Given the description of an element on the screen output the (x, y) to click on. 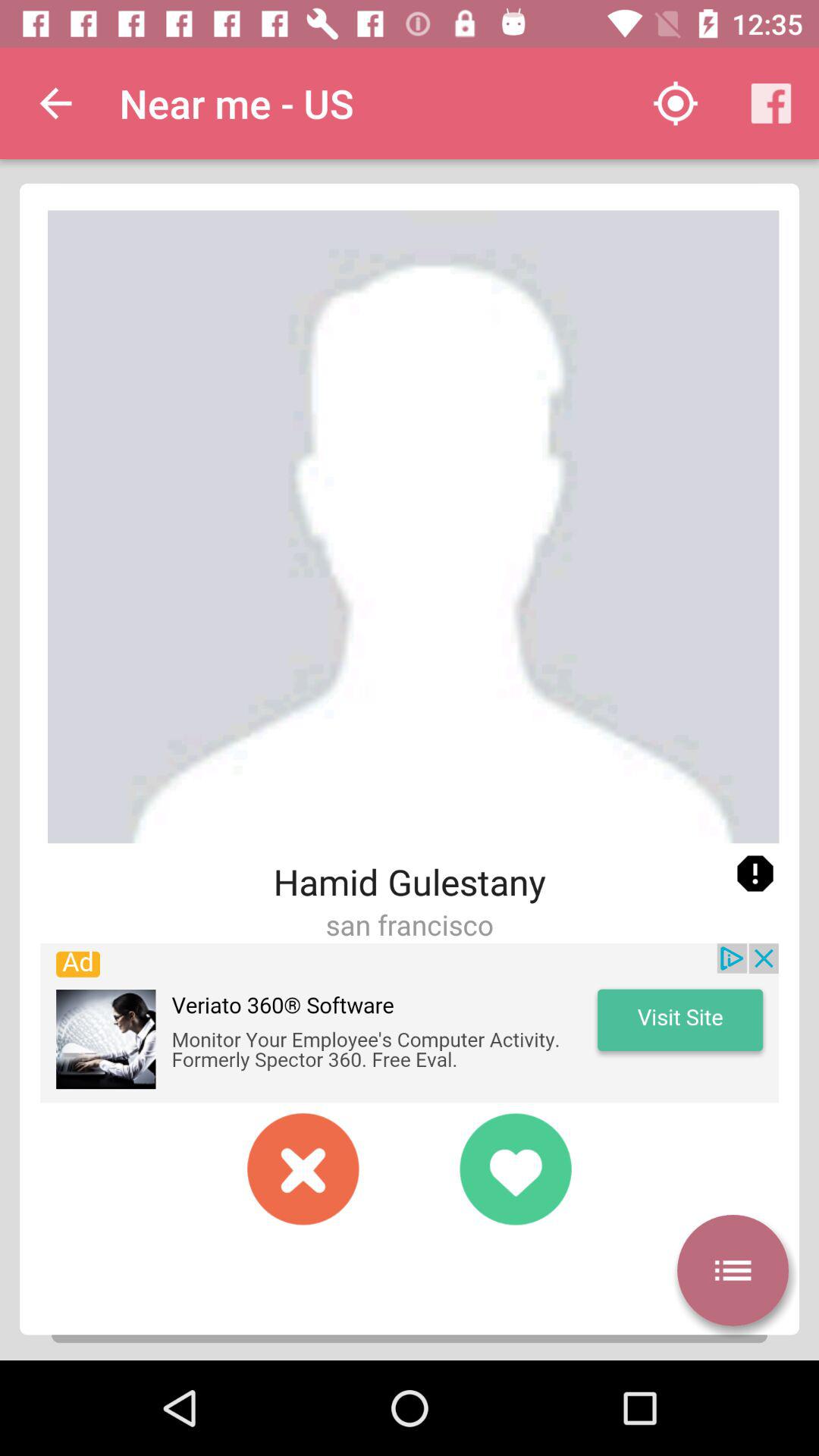
report the user (755, 873)
